Given the description of an element on the screen output the (x, y) to click on. 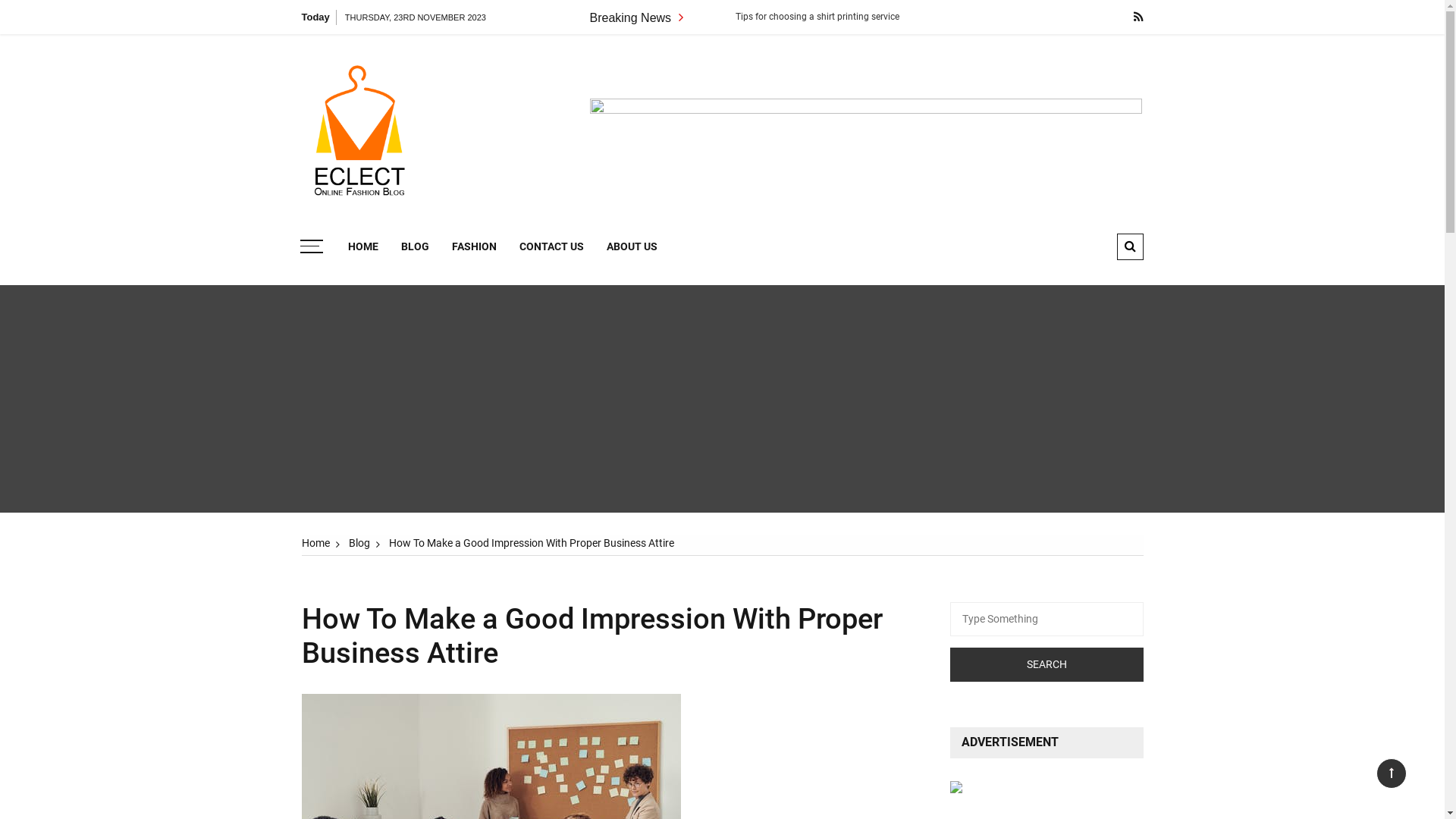
FASHION Element type: text (473, 246)
The shirt is a woman Element type: text (735, 16)
CONTACT US Element type: text (551, 246)
ABOUT US Element type: text (631, 246)
BLOG Element type: text (414, 246)
Home Element type: text (315, 542)
Tips for choosing a shirt printing service Element type: text (920, 16)
ECLECT Element type: text (469, 79)
Blog Element type: text (359, 542)
Search Element type: text (1045, 664)
HOME Element type: text (362, 246)
